Given the description of an element on the screen output the (x, y) to click on. 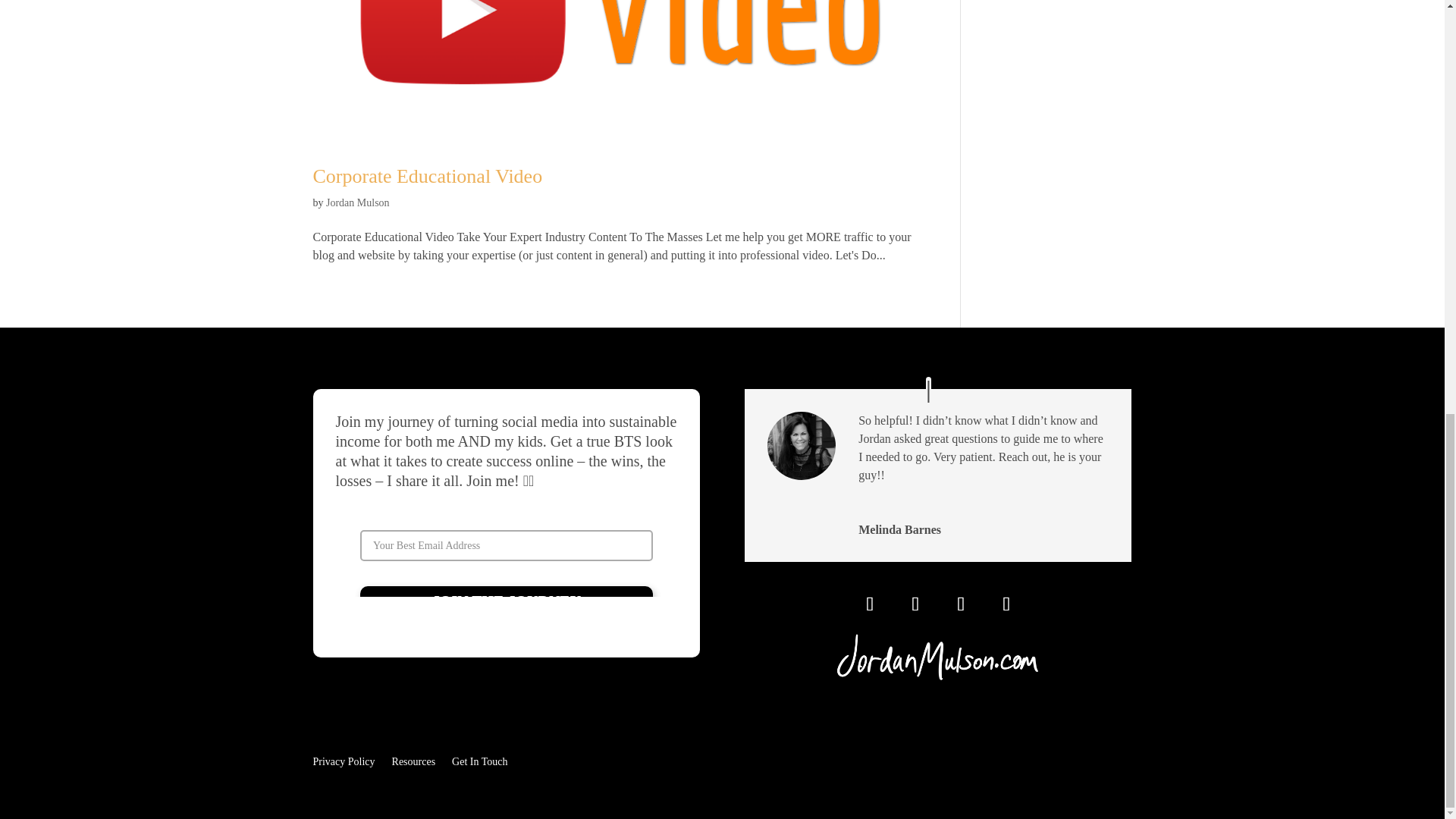
Get In Touch (478, 759)
Corporate Educational Video (427, 176)
JordanMulson.com Handwritten White (938, 656)
Follow on X (959, 604)
Privacy Policy (343, 759)
Follow on Instagram (869, 604)
Follow on LinkedIn (1006, 604)
JordanMulson.com MAIN (505, 540)
Jordan Mulson (358, 202)
Resources (413, 759)
